Given the description of an element on the screen output the (x, y) to click on. 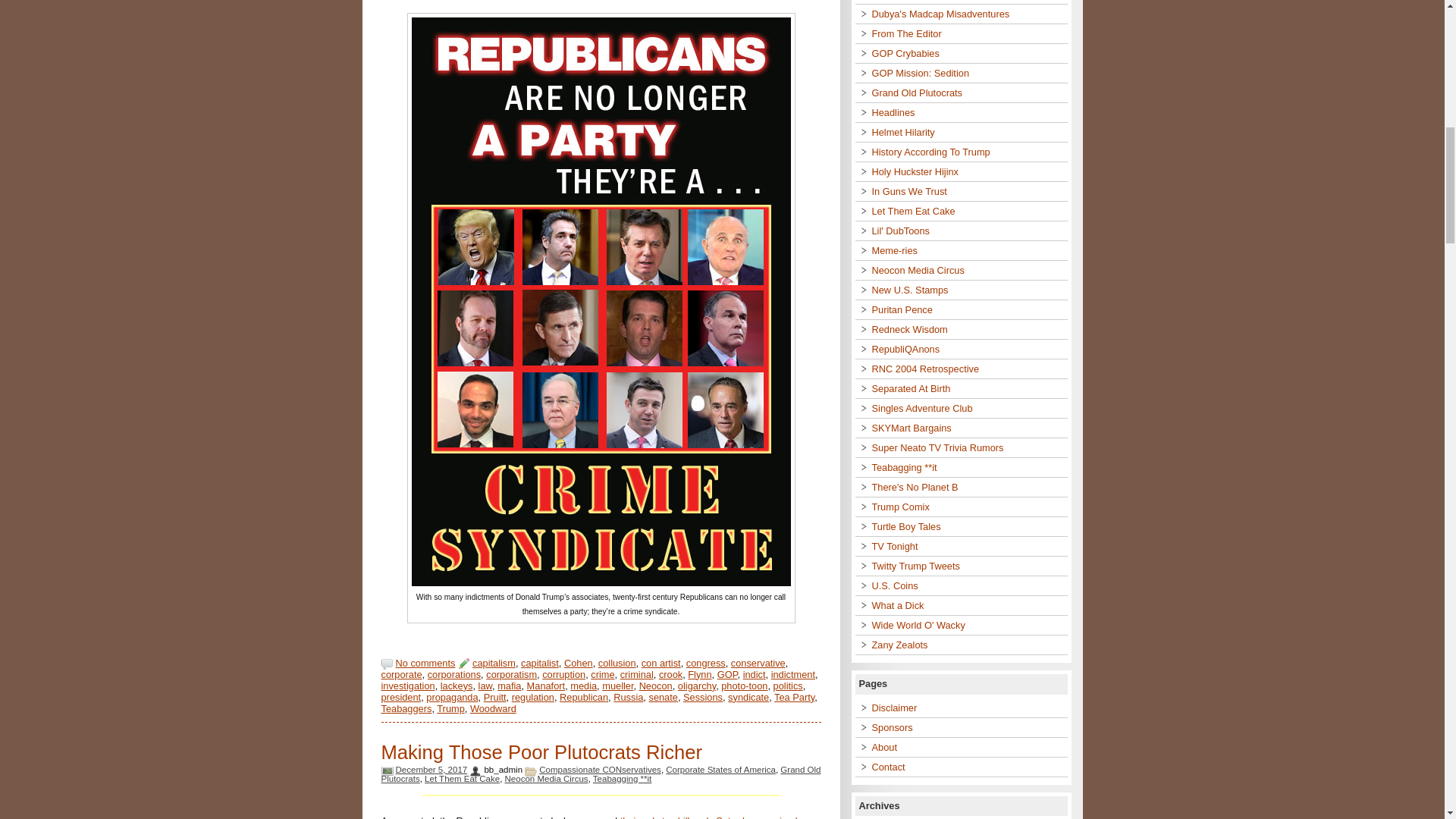
Cohen (578, 663)
capitalist (540, 663)
corporate (401, 674)
capitalism (493, 663)
con artist (661, 663)
No comments (425, 663)
congress (705, 663)
collusion (617, 663)
conservative (758, 663)
